Given the description of an element on the screen output the (x, y) to click on. 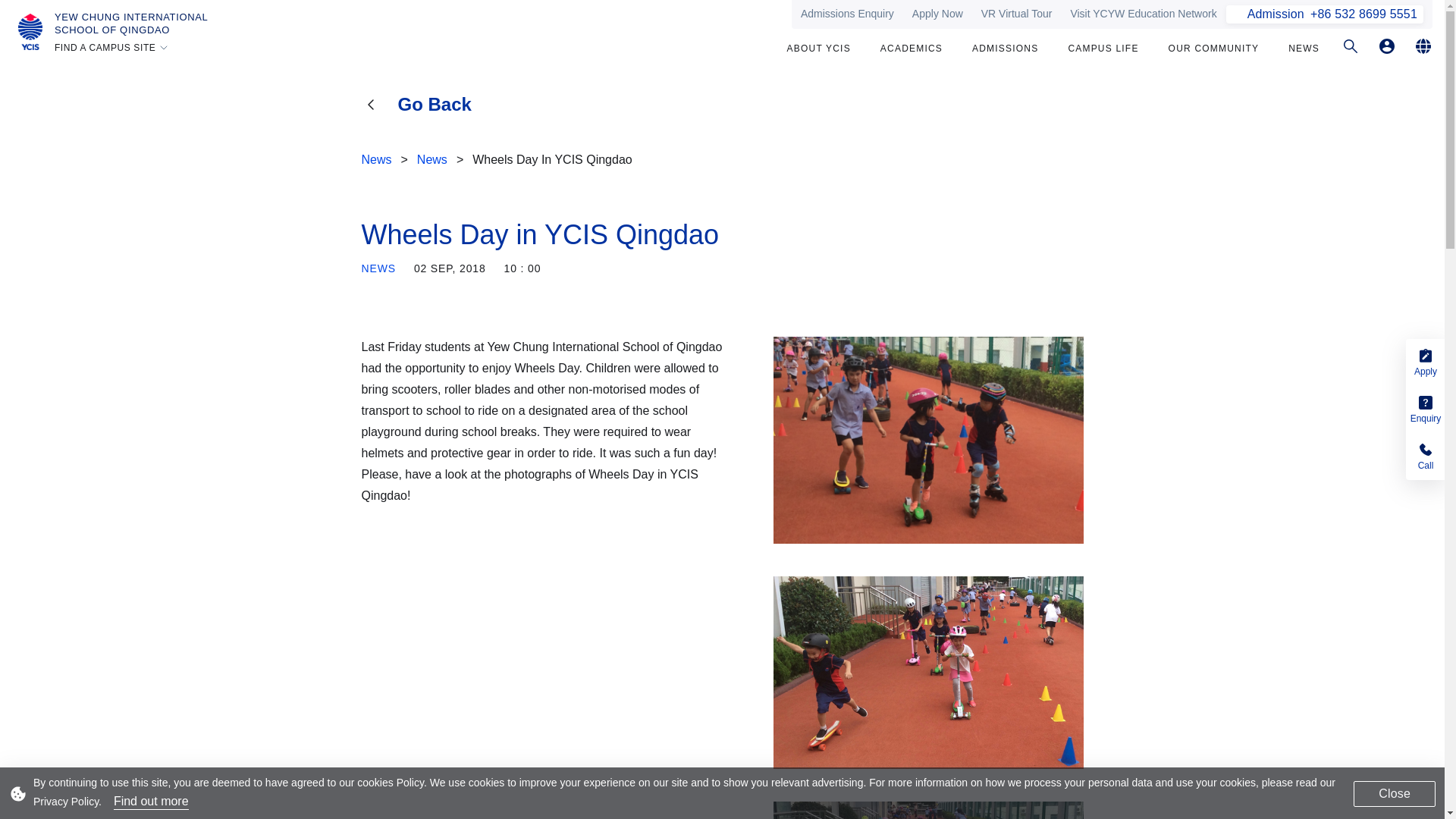
CAMPUS LIFE (1102, 50)
OUR COMMUNITY (1214, 50)
ABOUT YCIS (818, 50)
VR Virtual Tour (1016, 14)
NEWS (1303, 50)
ACADEMICS (911, 50)
FIND A CAMPUS SITE (112, 47)
Admissions Enquiry (131, 23)
Apply Now (847, 14)
Visit YCYW Education Network (937, 14)
ADMISSIONS (1143, 14)
